Given the description of an element on the screen output the (x, y) to click on. 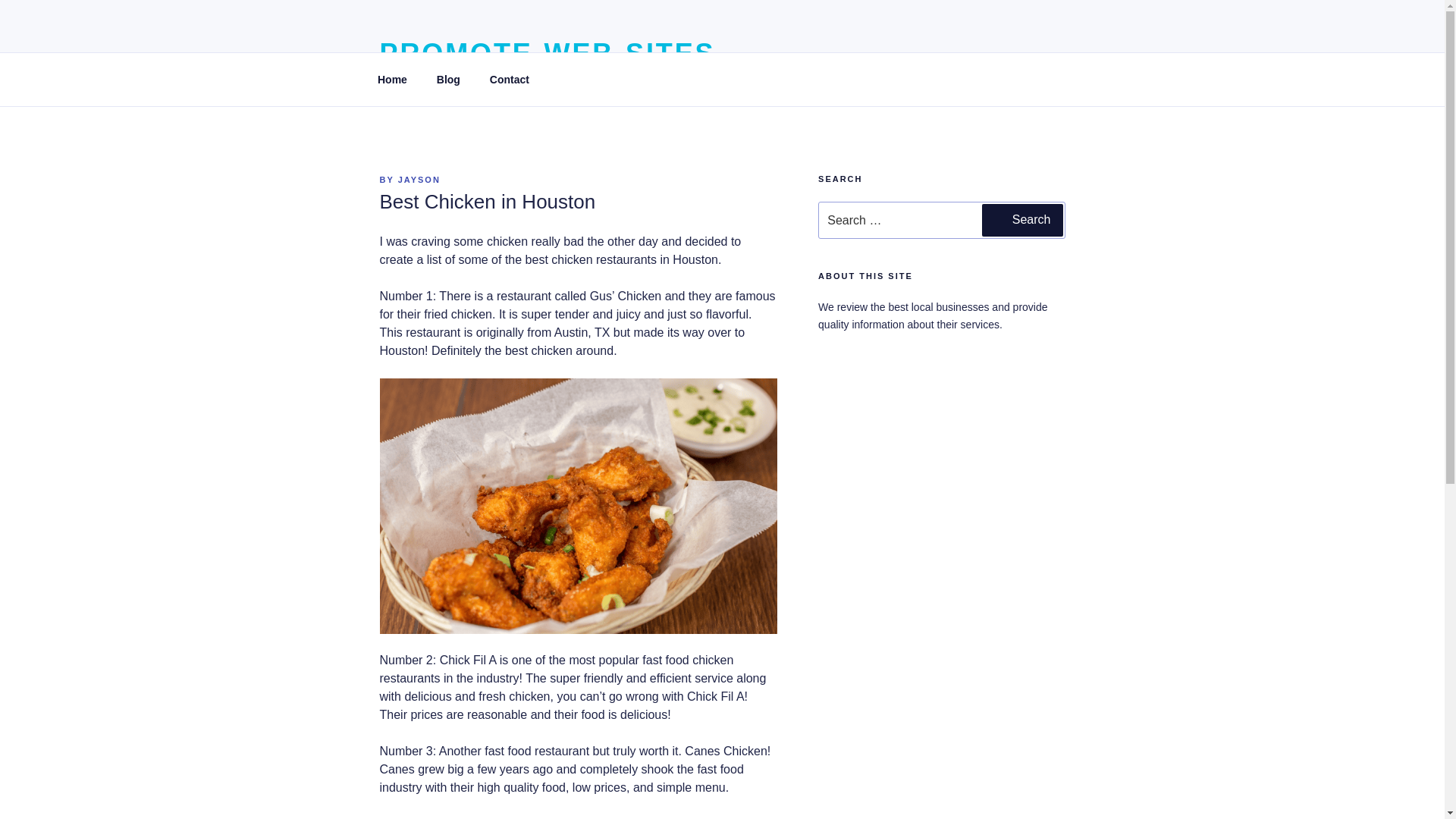
JAYSON (419, 179)
Contact (508, 78)
Blog (448, 78)
PROMOTE-WEB-SITES (546, 52)
Search (1021, 219)
Home (392, 78)
